Given the description of an element on the screen output the (x, y) to click on. 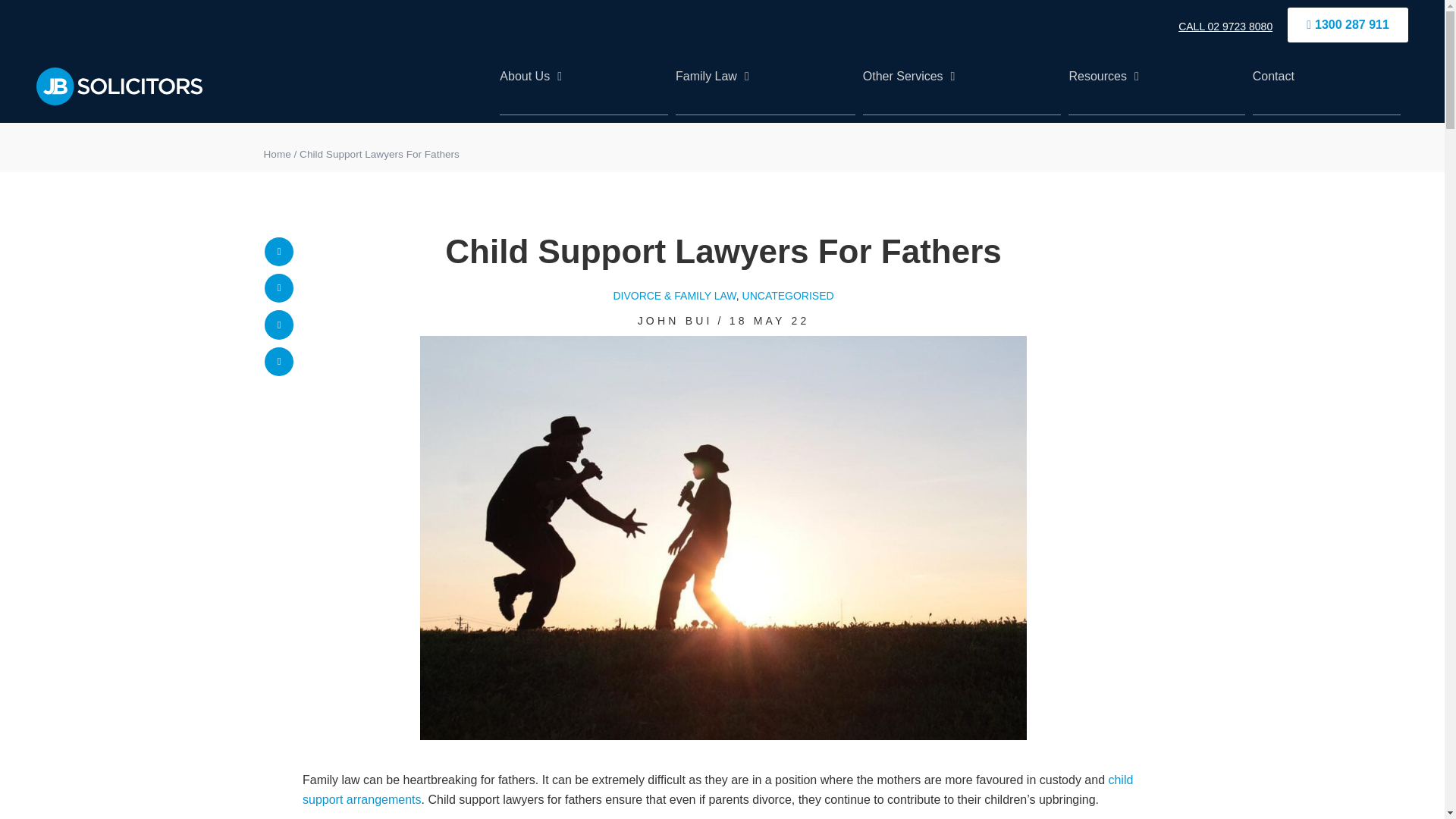
Resources (1156, 86)
Contact (1326, 86)
Family Law (765, 86)
About Us (583, 86)
CALL 02 9723 8080 (1224, 26)
Other Services (962, 86)
5:58 AM (769, 320)
1300 287 911 (1347, 24)
